Given the description of an element on the screen output the (x, y) to click on. 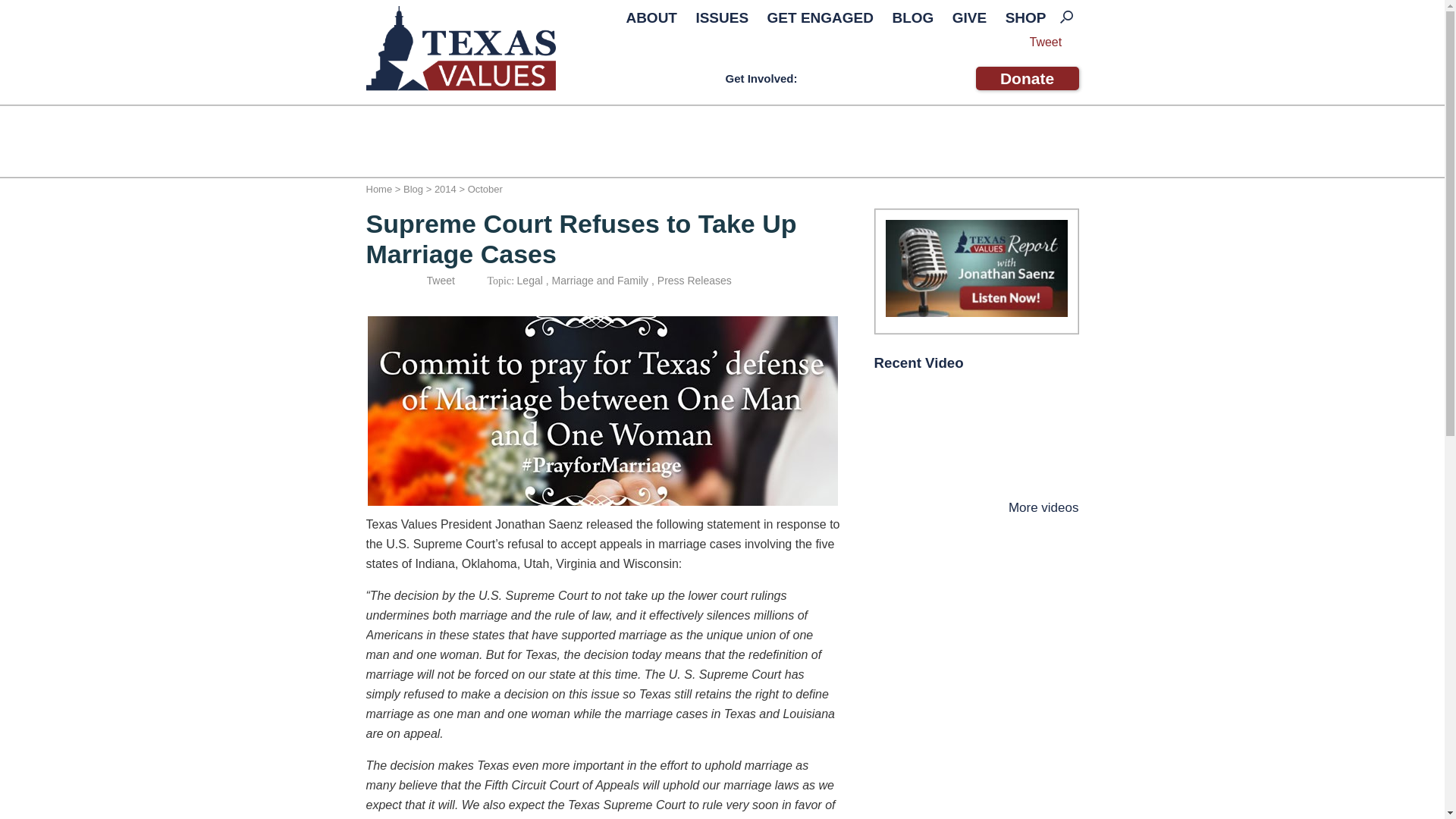
View all posts in Legal (529, 280)
View all posts in Marriage and Family (600, 280)
ISSUES (721, 16)
BLOG (911, 16)
GET ENGAGED (820, 16)
ABOUT (650, 16)
View all posts in Press Releases (695, 280)
